Given the description of an element on the screen output the (x, y) to click on. 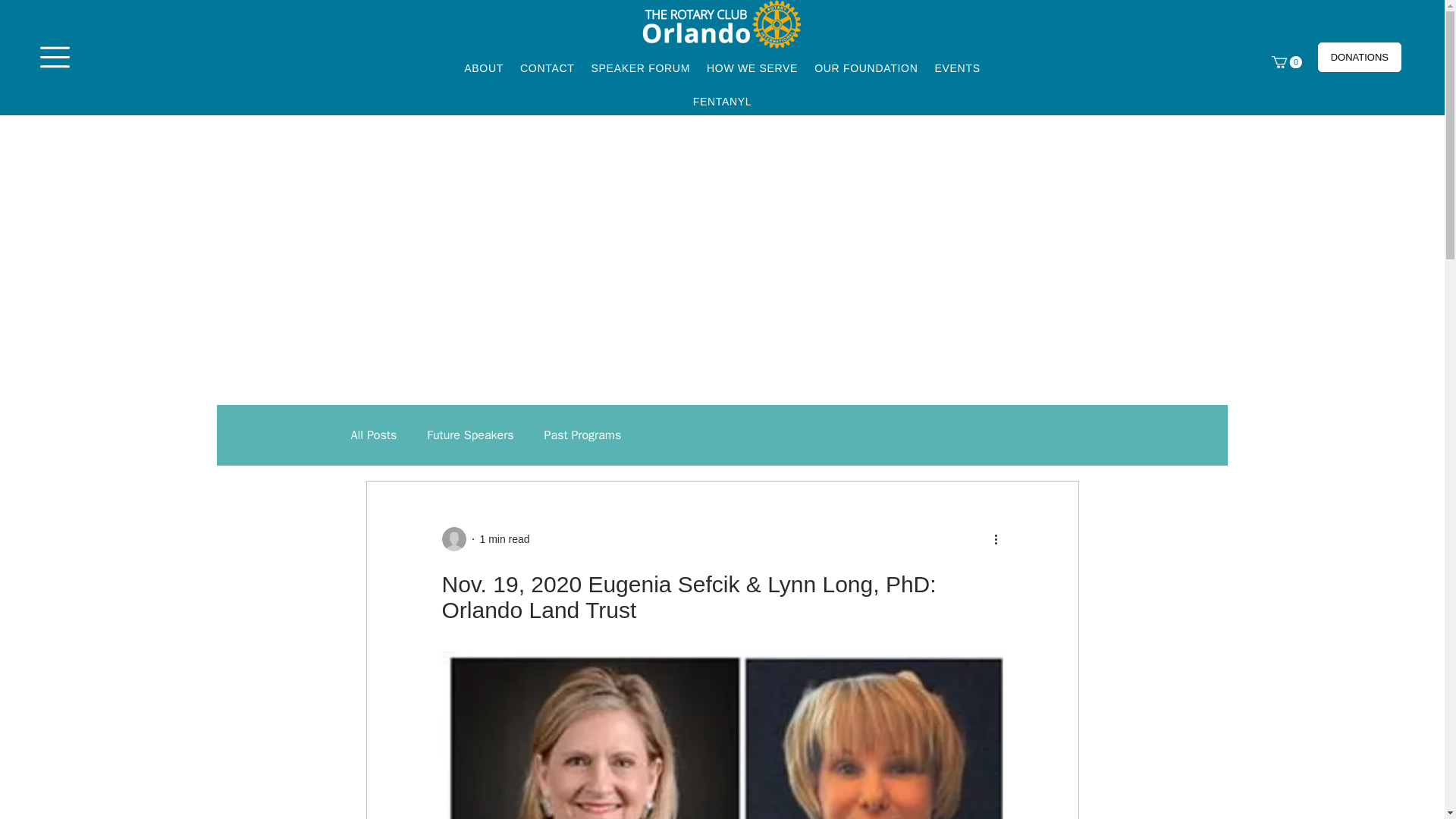
FENTANYL (722, 101)
0 (1286, 62)
1 min read (504, 539)
0 (1286, 61)
DONATIONS (1358, 57)
ABOUT (484, 67)
Past Programs (582, 435)
All Posts (373, 435)
EVENTS (956, 67)
SPEAKER FORUM (640, 67)
OUR FOUNDATION (865, 67)
HOW WE SERVE (751, 67)
CONTACT (547, 67)
Future Speakers (469, 435)
